Given the description of an element on the screen output the (x, y) to click on. 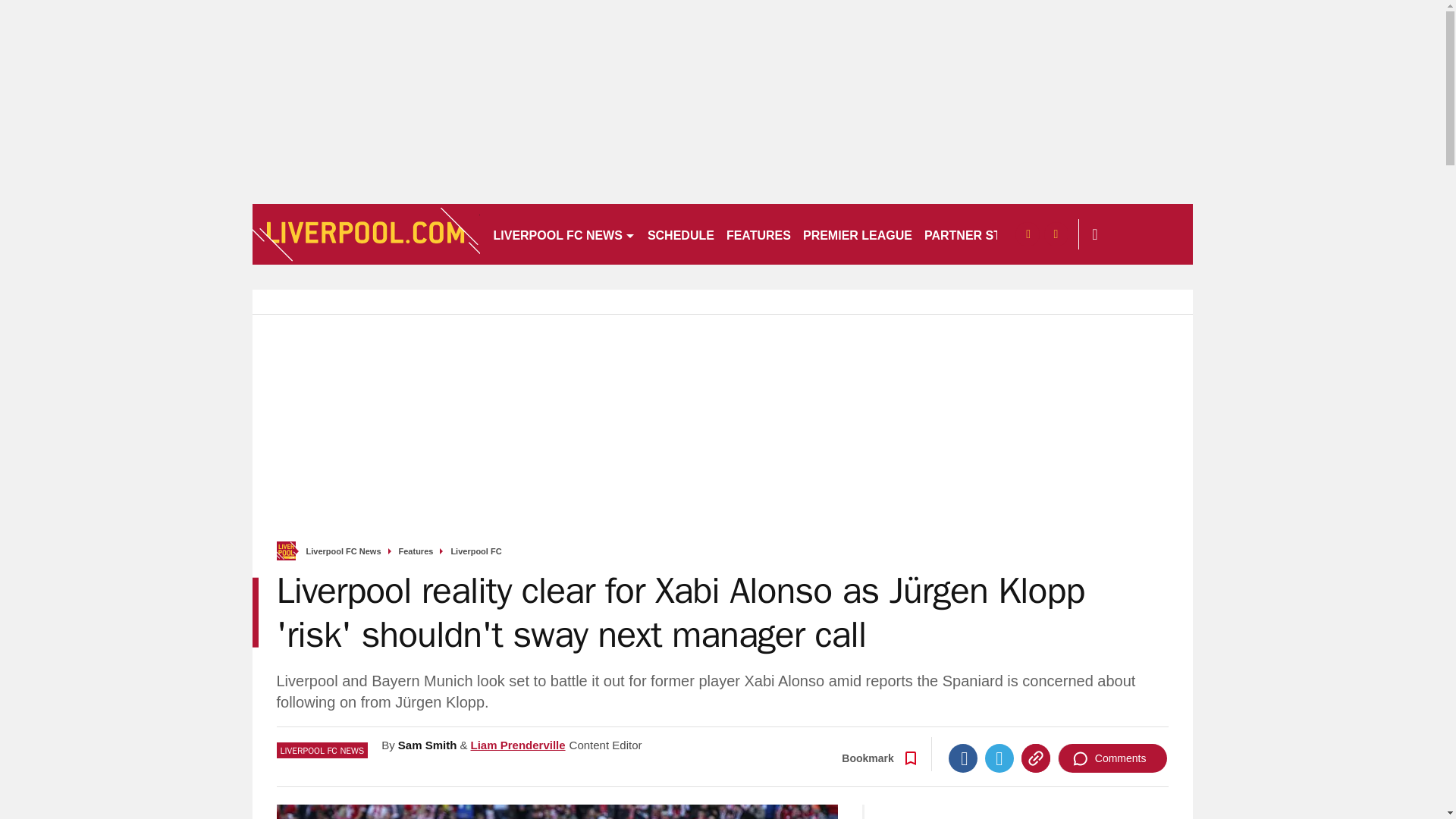
Twitter (999, 758)
PREMIER LEAGUE (857, 233)
Facebook (962, 758)
FEATURES (758, 233)
facebook (1026, 233)
PARTNER STORIES (981, 233)
Liverpool FC (474, 551)
liverpool (365, 233)
frontpage (285, 550)
Features (415, 551)
Comments (1112, 758)
Liverpool FC News (343, 551)
LIVERPOOL FC NEWS (563, 233)
SCHEDULE (681, 233)
twitter (1055, 233)
